Given the description of an element on the screen output the (x, y) to click on. 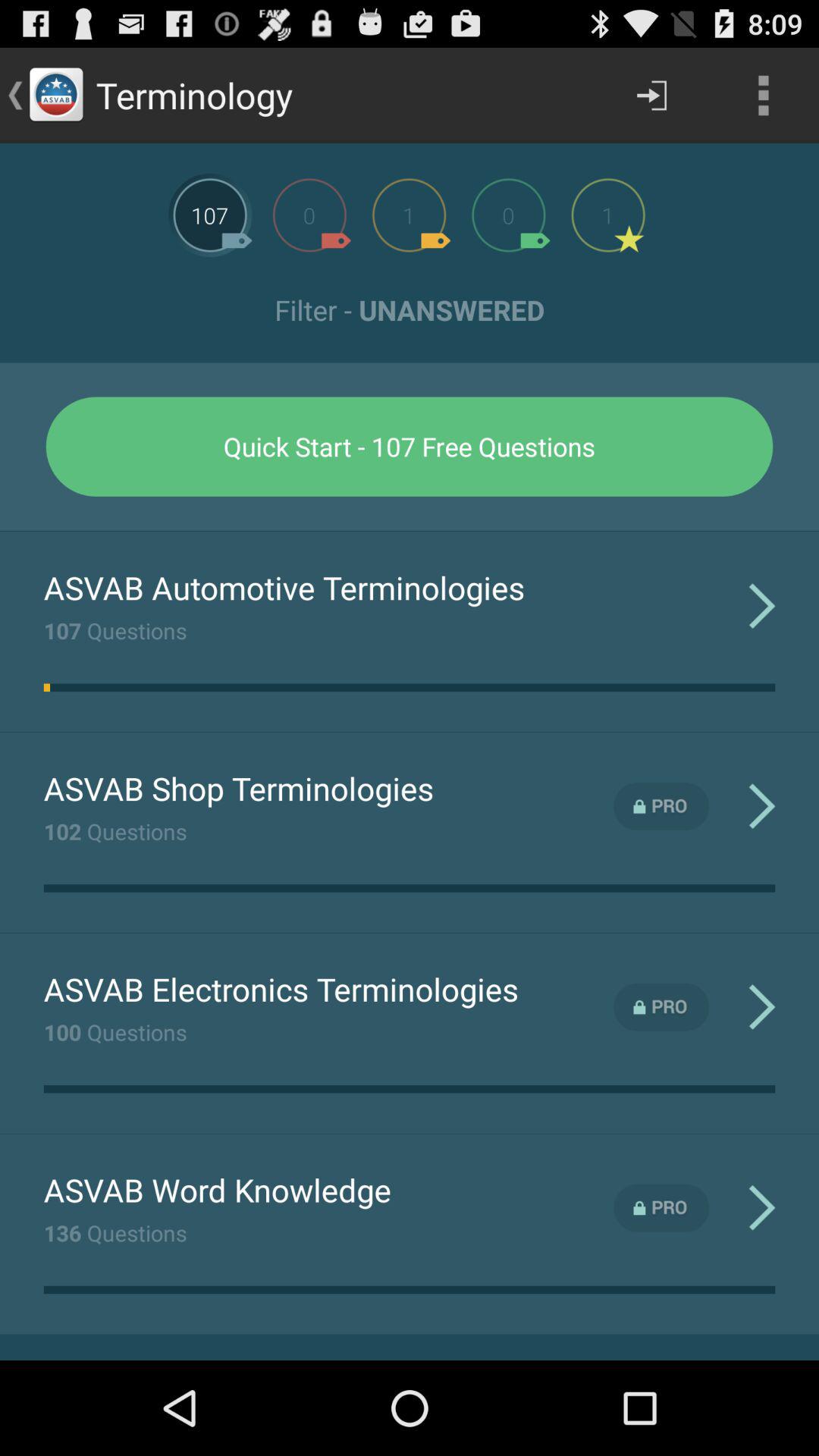
open the icon above the asvab shop terminologies app (46, 687)
